Given the description of an element on the screen output the (x, y) to click on. 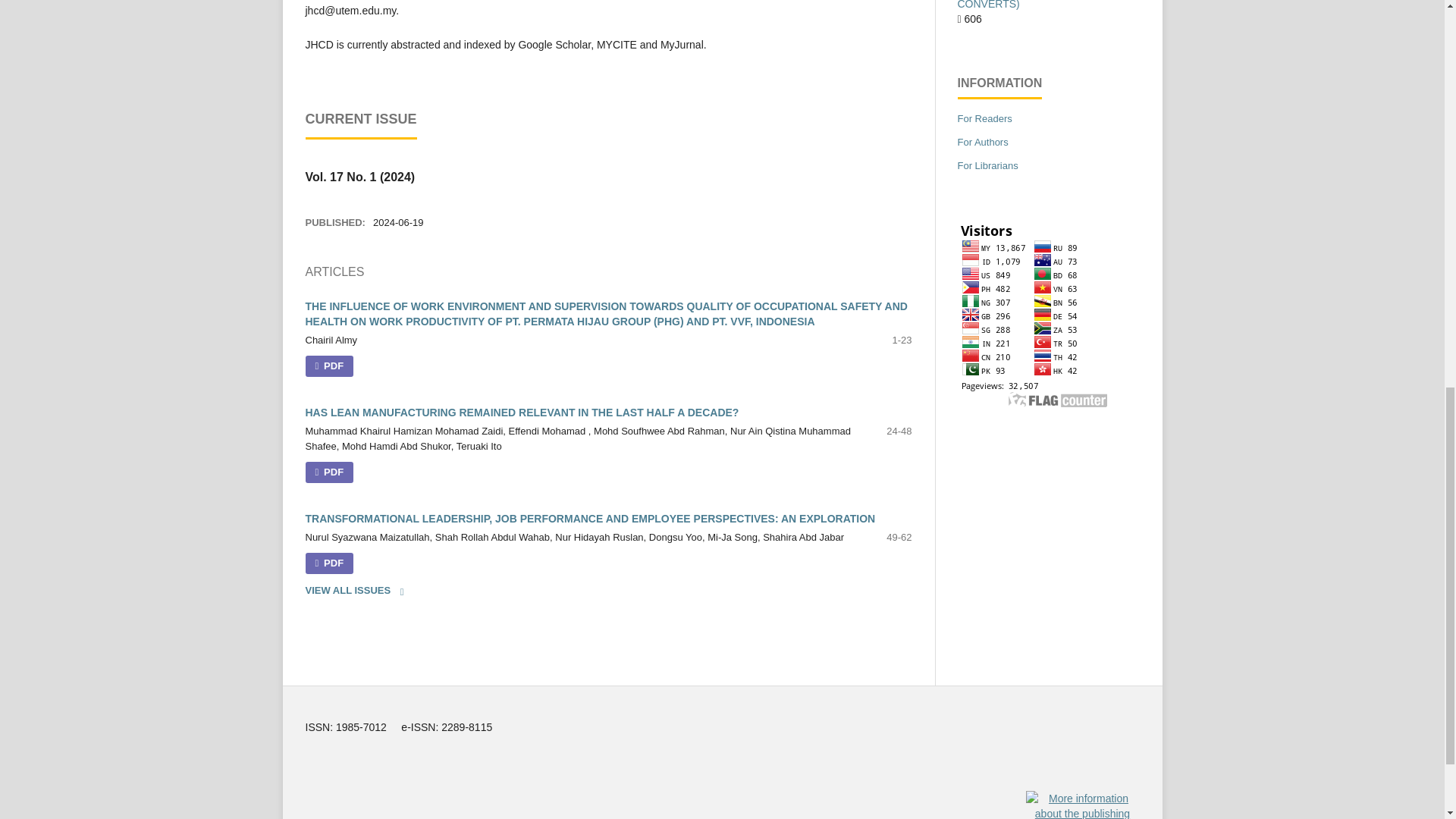
PDF (328, 563)
VIEW ALL ISSUES (358, 590)
PDF (328, 472)
PDF (328, 365)
